Given the description of an element on the screen output the (x, y) to click on. 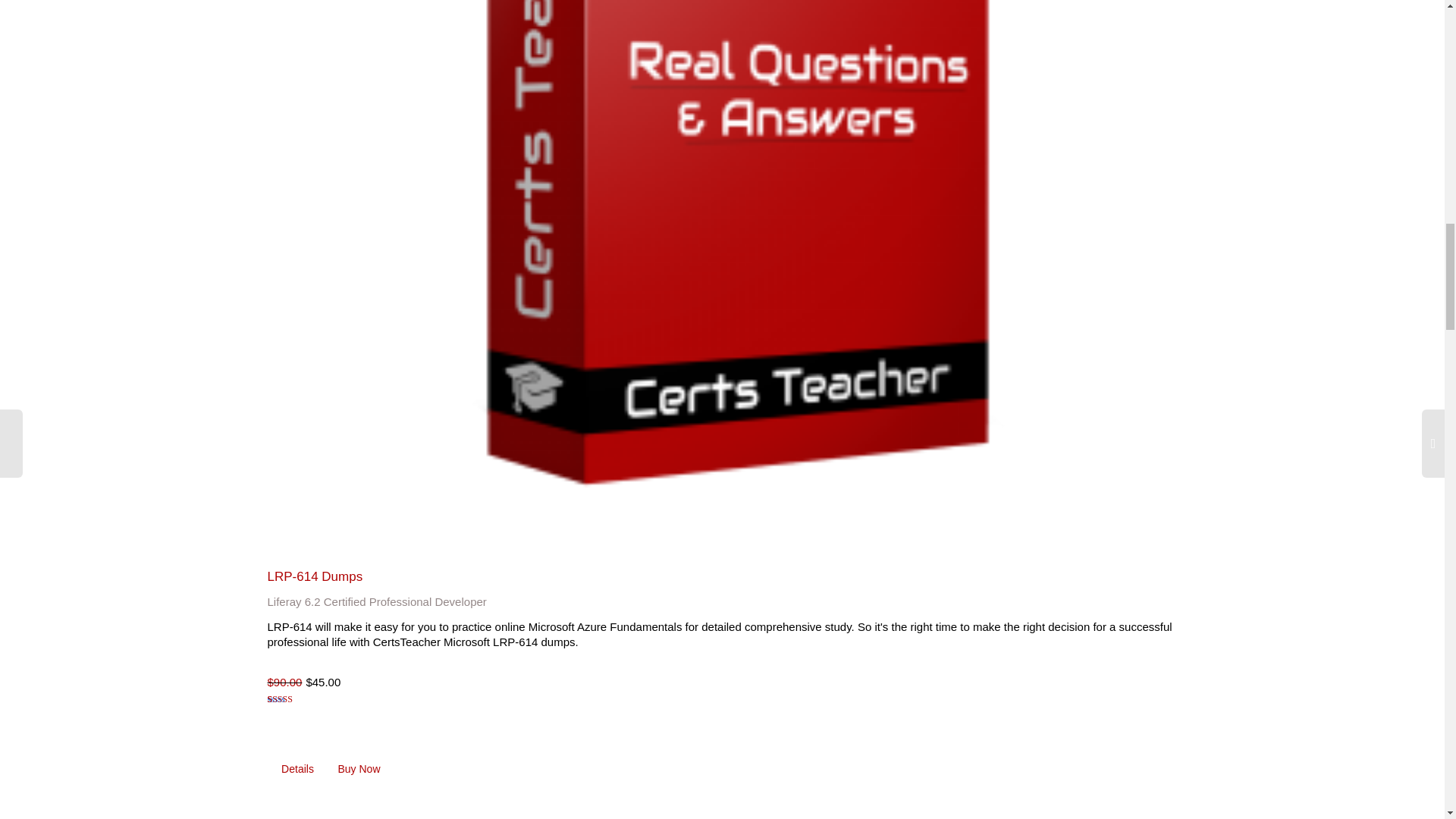
Details (296, 769)
LRP-614 Dumps (314, 576)
Buy Now (358, 769)
